Given the description of an element on the screen output the (x, y) to click on. 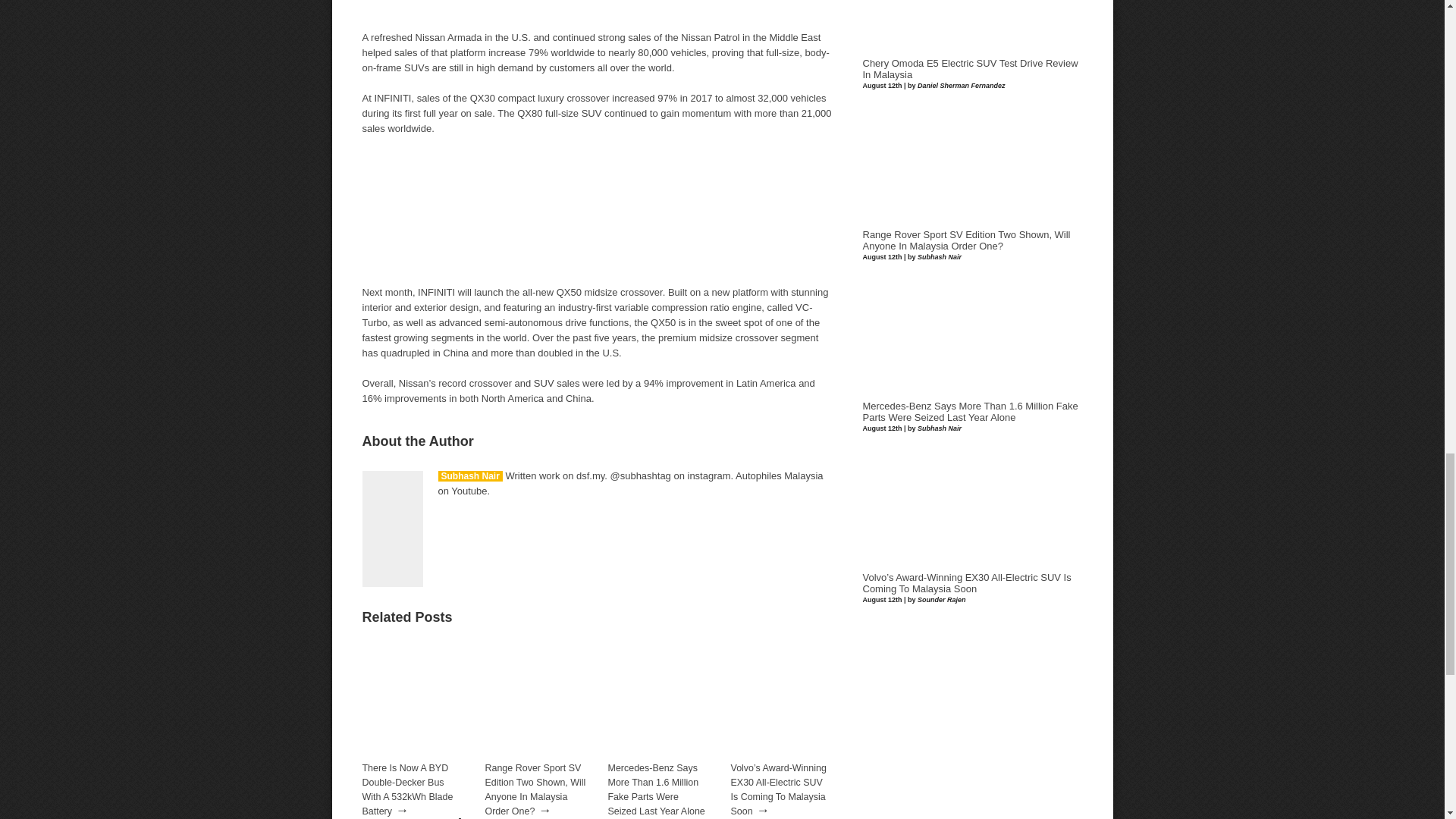
Posts by Subhash Nair (470, 475)
Subhash Nair (470, 475)
Chery Omoda E5 Electric SUV Test Drive Review In Malaysia (970, 69)
